Given the description of an element on the screen output the (x, y) to click on. 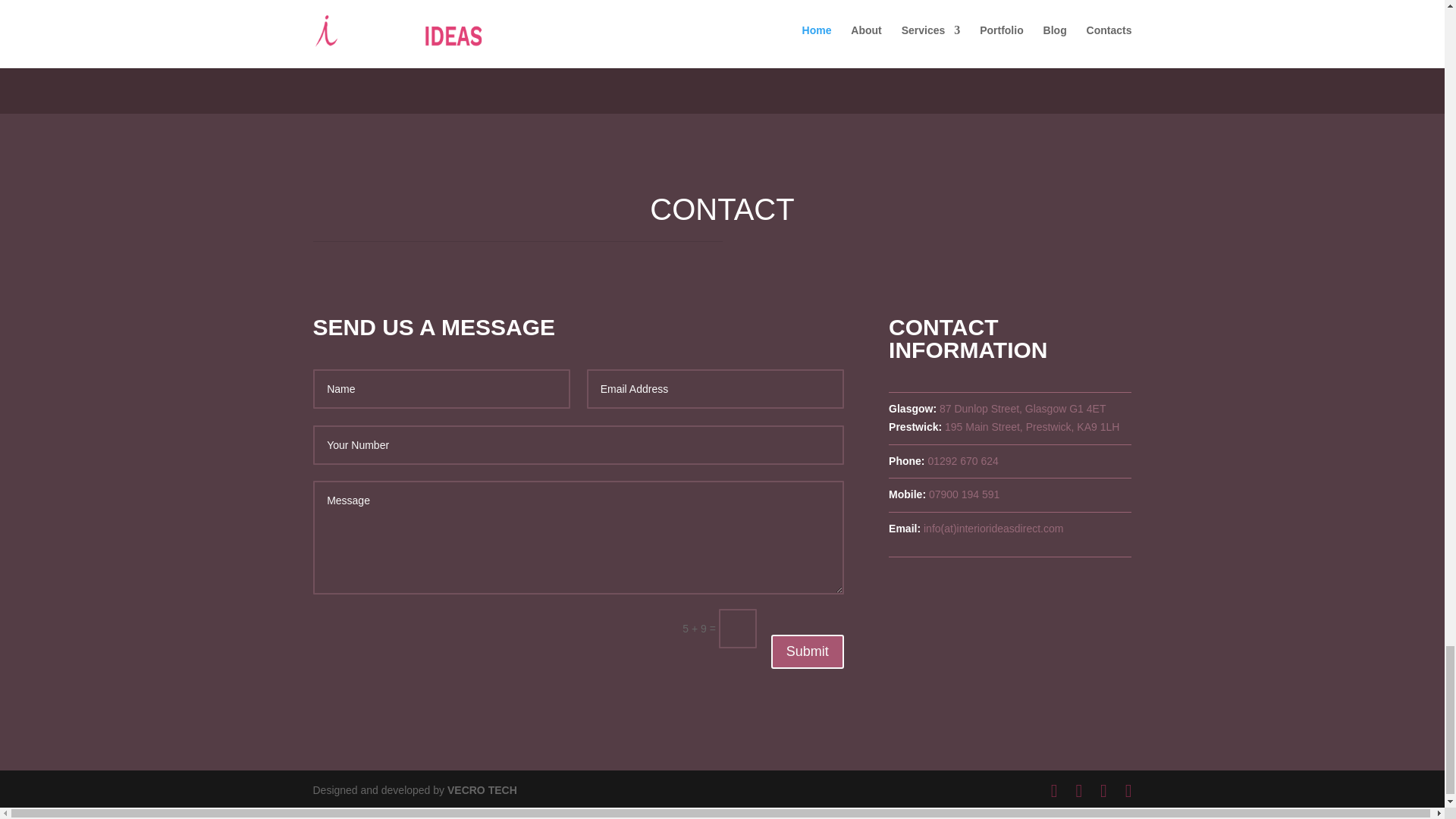
Submit (807, 650)
Only numbers allowed. (578, 445)
VECRO TECH (481, 789)
